Given the description of an element on the screen output the (x, y) to click on. 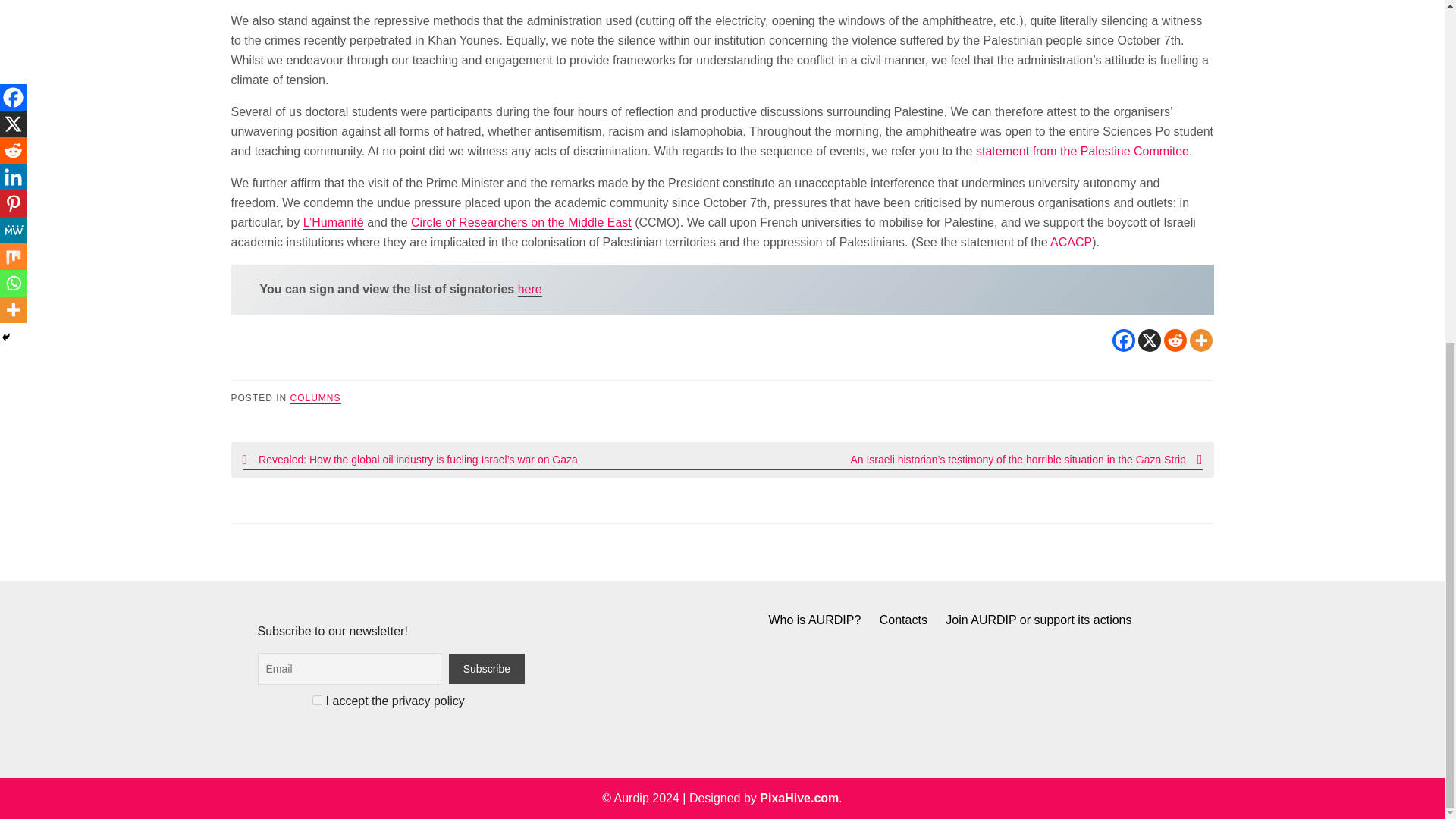
statement from the Palestine Commitee (1082, 151)
on (317, 700)
ACACP (1070, 242)
Subscribe (486, 668)
Circle of Researchers on the Middle East (520, 223)
here (529, 289)
